Given the description of an element on the screen output the (x, y) to click on. 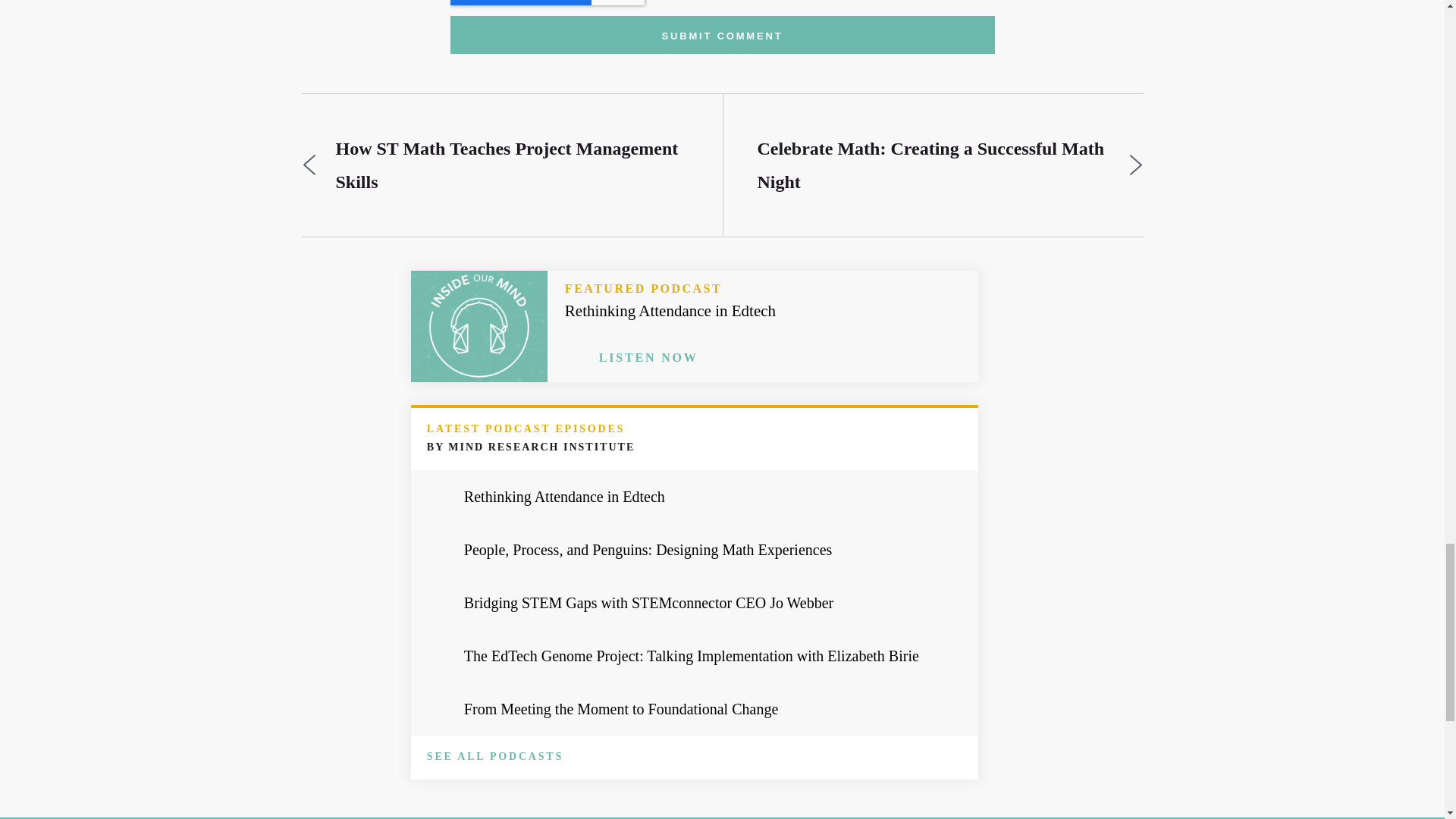
Submit Comment (721, 34)
reCAPTCHA (547, 2)
